Given the description of an element on the screen output the (x, y) to click on. 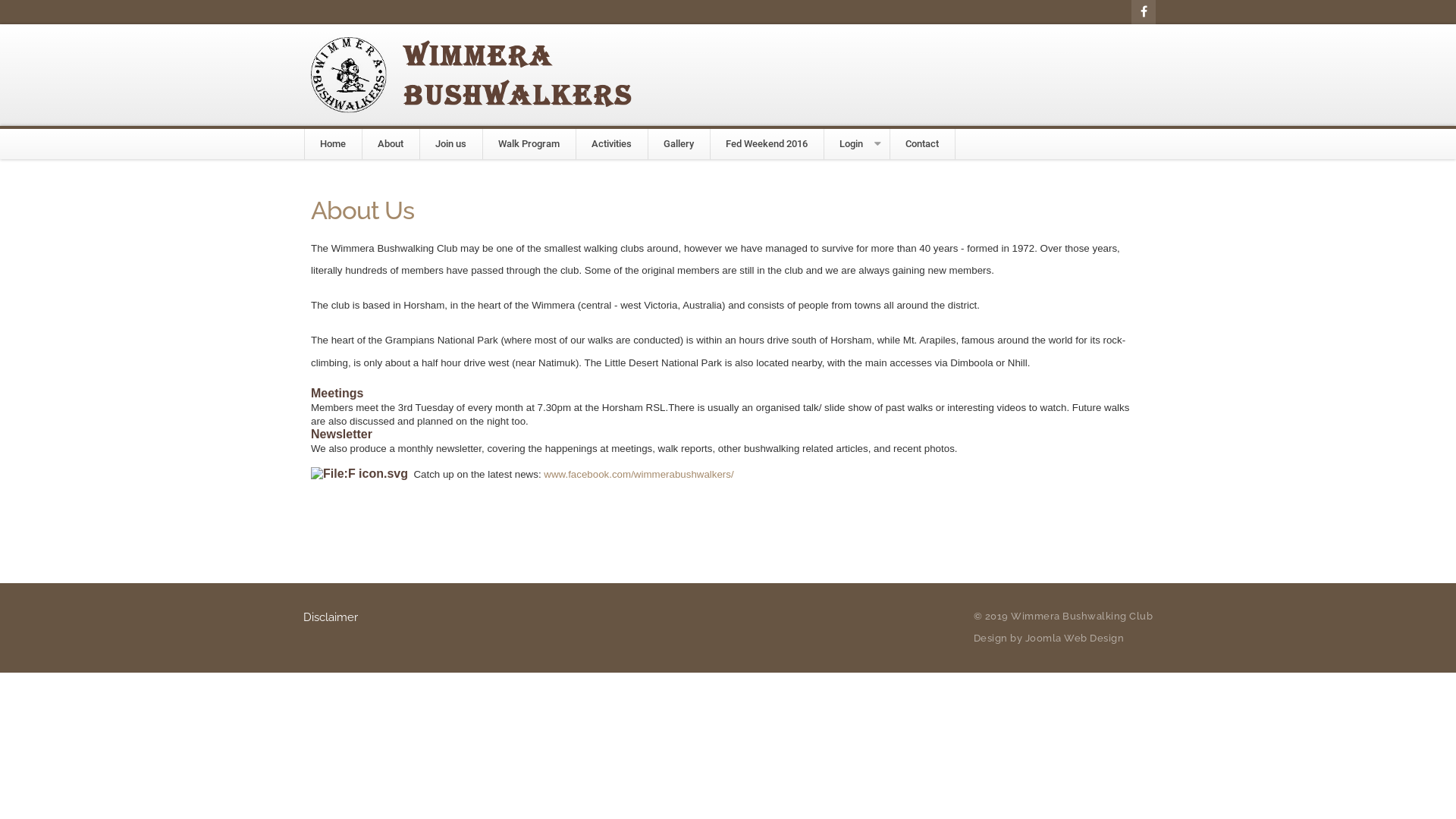
Walk Program Element type: text (528, 143)
Facebook Element type: text (1143, 12)
Disclaimer Element type: text (334, 617)
Fed Weekend 2016 Element type: text (766, 143)
About Element type: text (390, 143)
Gallery Element type: text (678, 143)
www.facebook.com/wimmerabushwalkers/ Element type: text (638, 474)
Activities Element type: text (611, 143)
Home Element type: text (332, 143)
Contact Element type: text (921, 143)
Join us Element type: text (450, 143)
Login Element type: text (851, 143)
Joomla Web Design Element type: text (1074, 637)
